Given the description of an element on the screen output the (x, y) to click on. 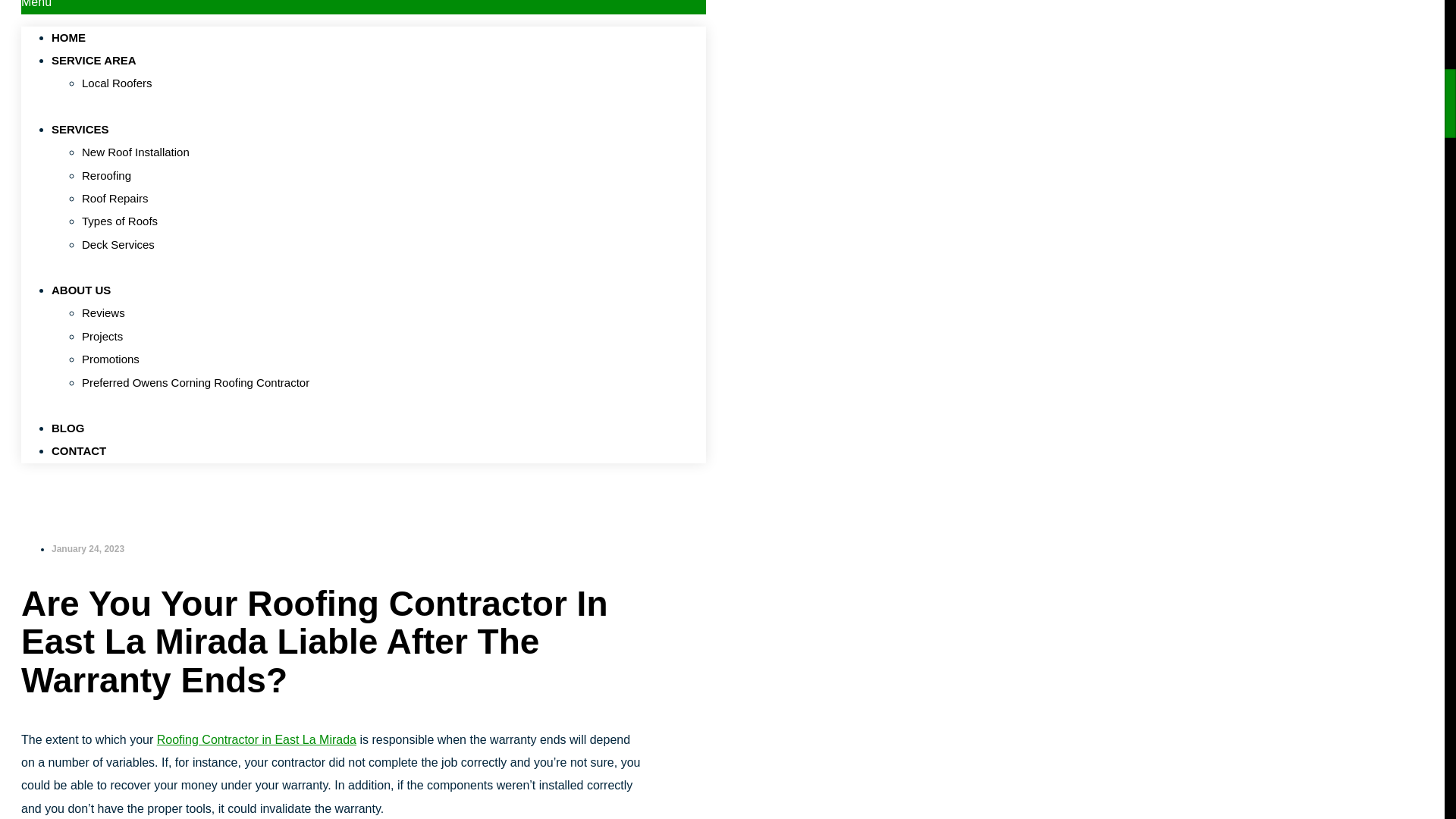
HOME (67, 37)
Roofing Contractor in East La Mirada (256, 739)
Deck Services (117, 244)
ABOUT US (87, 289)
Roof Repairs (114, 197)
Reviews (103, 312)
SERVICE AREA (100, 60)
Promotions (110, 358)
CONTACT (78, 450)
Reroofing (106, 174)
Preferred Owens Corning Roofing Contractor (194, 382)
Projects (101, 336)
Local Roofers (116, 82)
New Roof Installation (135, 151)
Types of Roofs (119, 220)
